Given the description of an element on the screen output the (x, y) to click on. 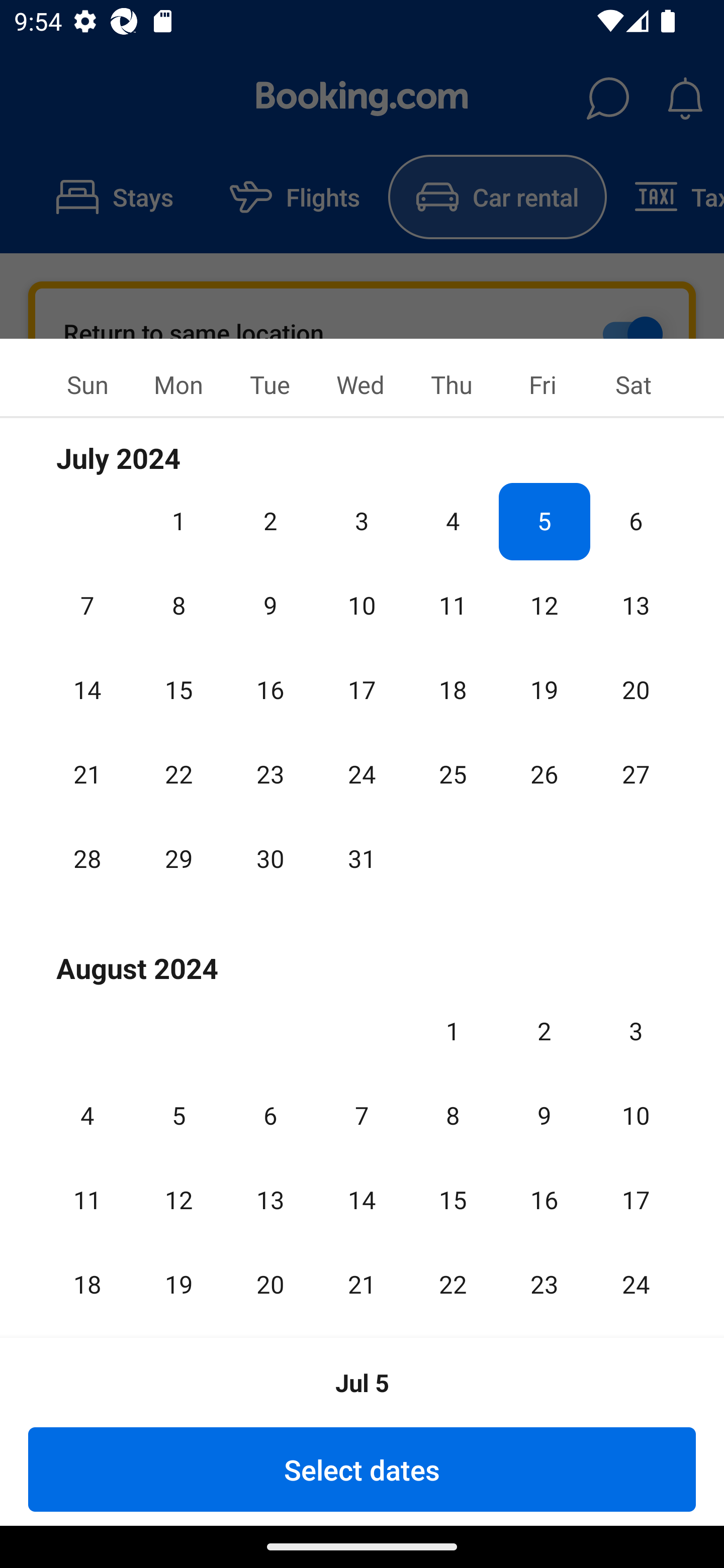
Select dates (361, 1468)
